Given the description of an element on the screen output the (x, y) to click on. 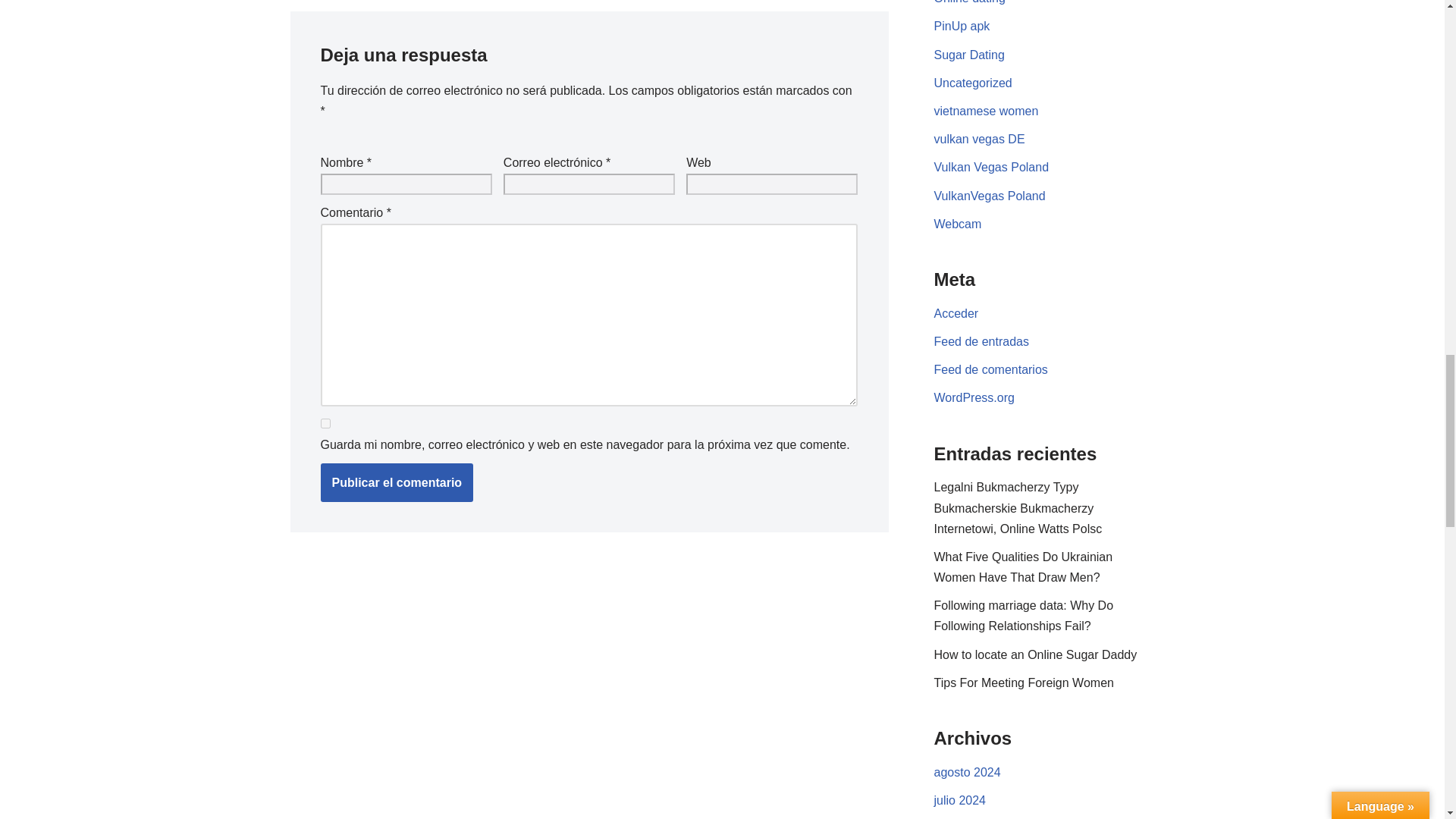
Publicar el comentario (396, 482)
Publicar el comentario (396, 482)
yes (325, 423)
